Given the description of an element on the screen output the (x, y) to click on. 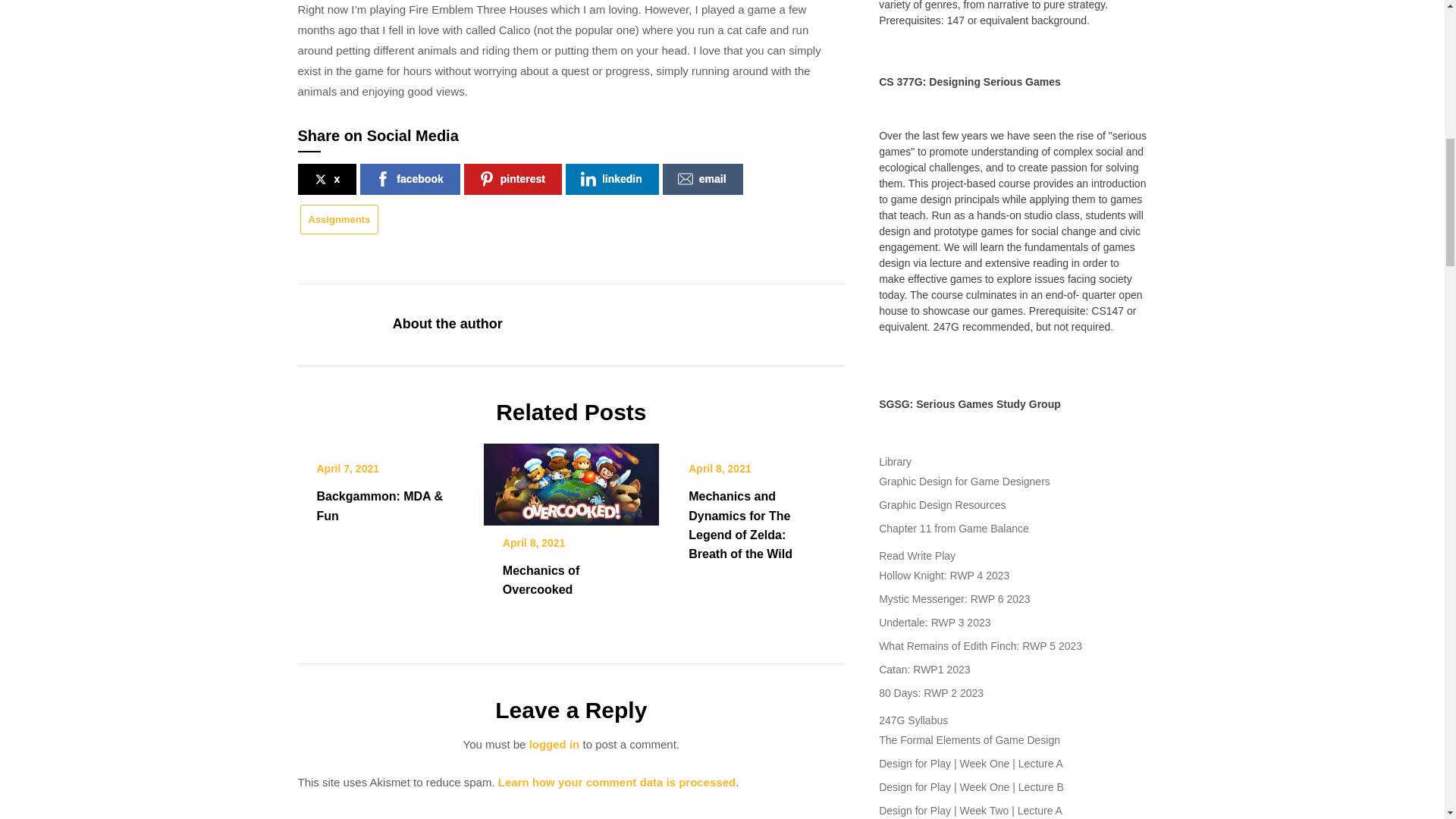
Mechanics of Overcooked (571, 479)
